Given the description of an element on the screen output the (x, y) to click on. 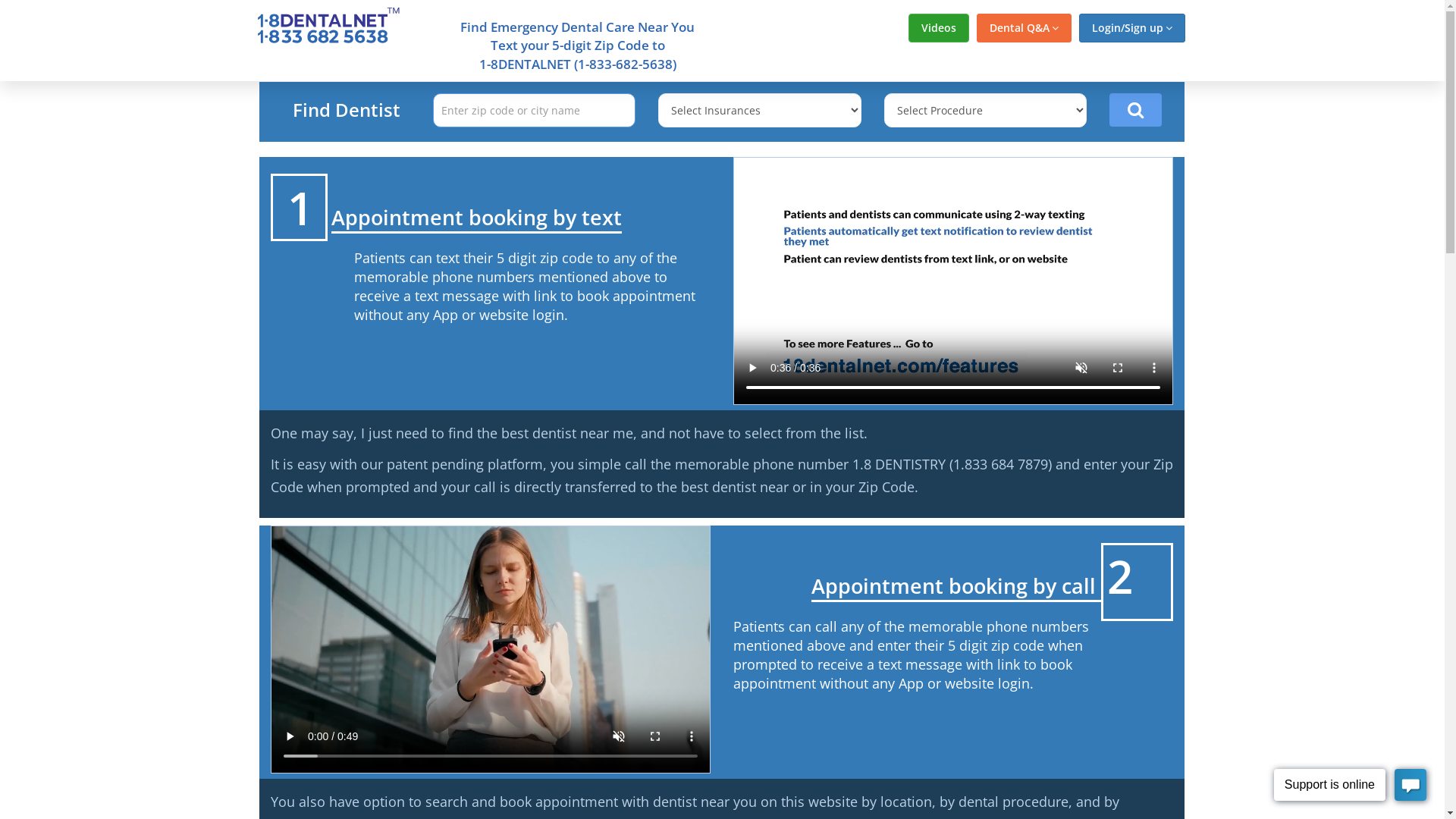
Search Element type: hover (1135, 109)
Pure Chat Live Chat Element type: hover (1349, 786)
Dental Q&A Element type: text (1023, 27)
Videos Element type: text (938, 27)
Login/Sign up Element type: text (1131, 27)
